Given the description of an element on the screen output the (x, y) to click on. 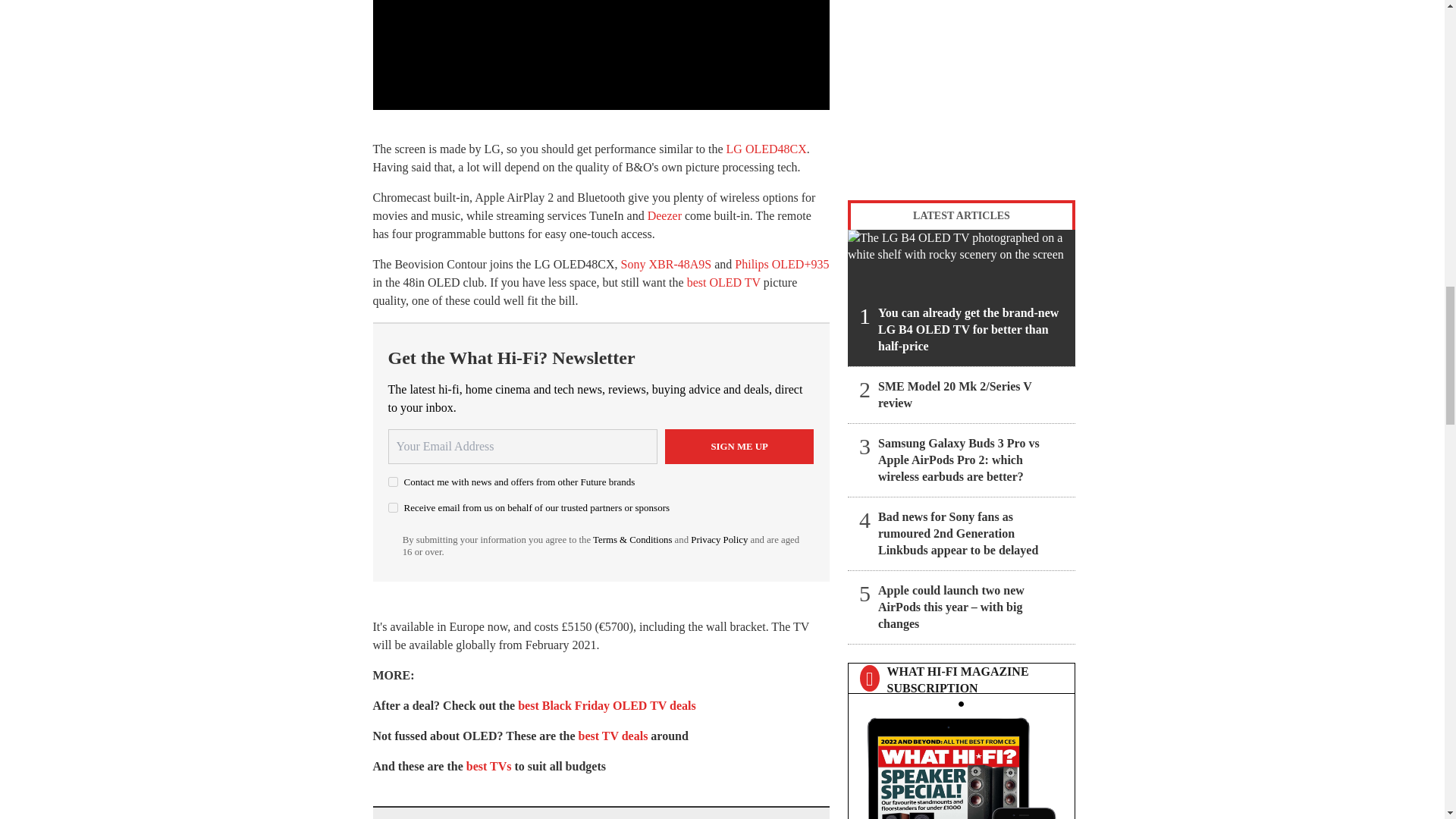
on (392, 507)
What Hi-Fi Magazine... (960, 764)
Sign me up (739, 446)
on (392, 481)
